Given the description of an element on the screen output the (x, y) to click on. 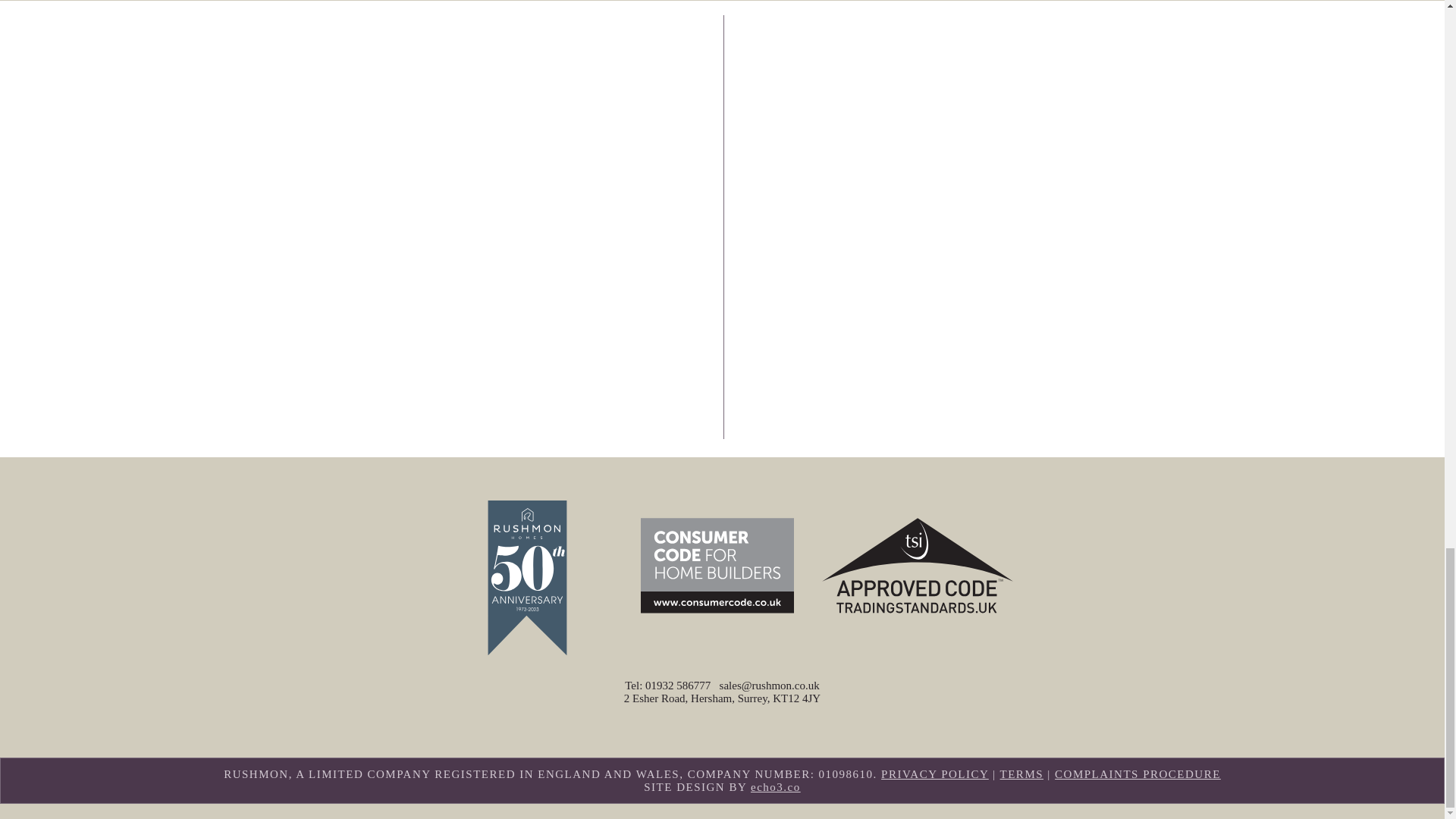
COMPLAINTS PROCEDURE (1137, 774)
TERMS (1021, 774)
PRIVACY POLICY (934, 774)
echo3.co (775, 787)
